Given the description of an element on the screen output the (x, y) to click on. 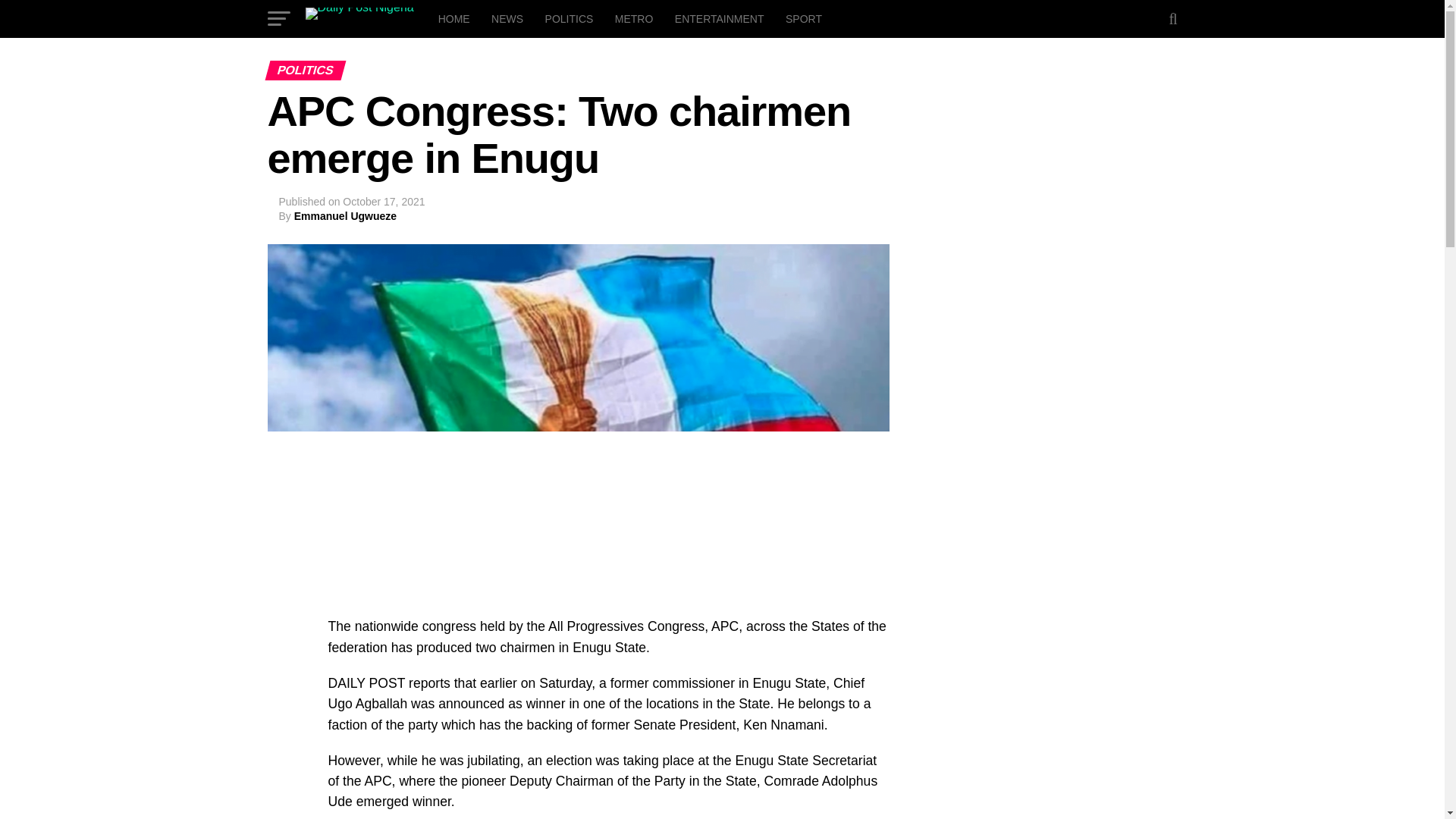
NEWS (506, 18)
Emmanuel Ugwueze (345, 215)
HOME (454, 18)
ENTERTAINMENT (719, 18)
POLITICS (568, 18)
Posts by Emmanuel Ugwueze (345, 215)
SPORT (803, 18)
METRO (633, 18)
